Given the description of an element on the screen output the (x, y) to click on. 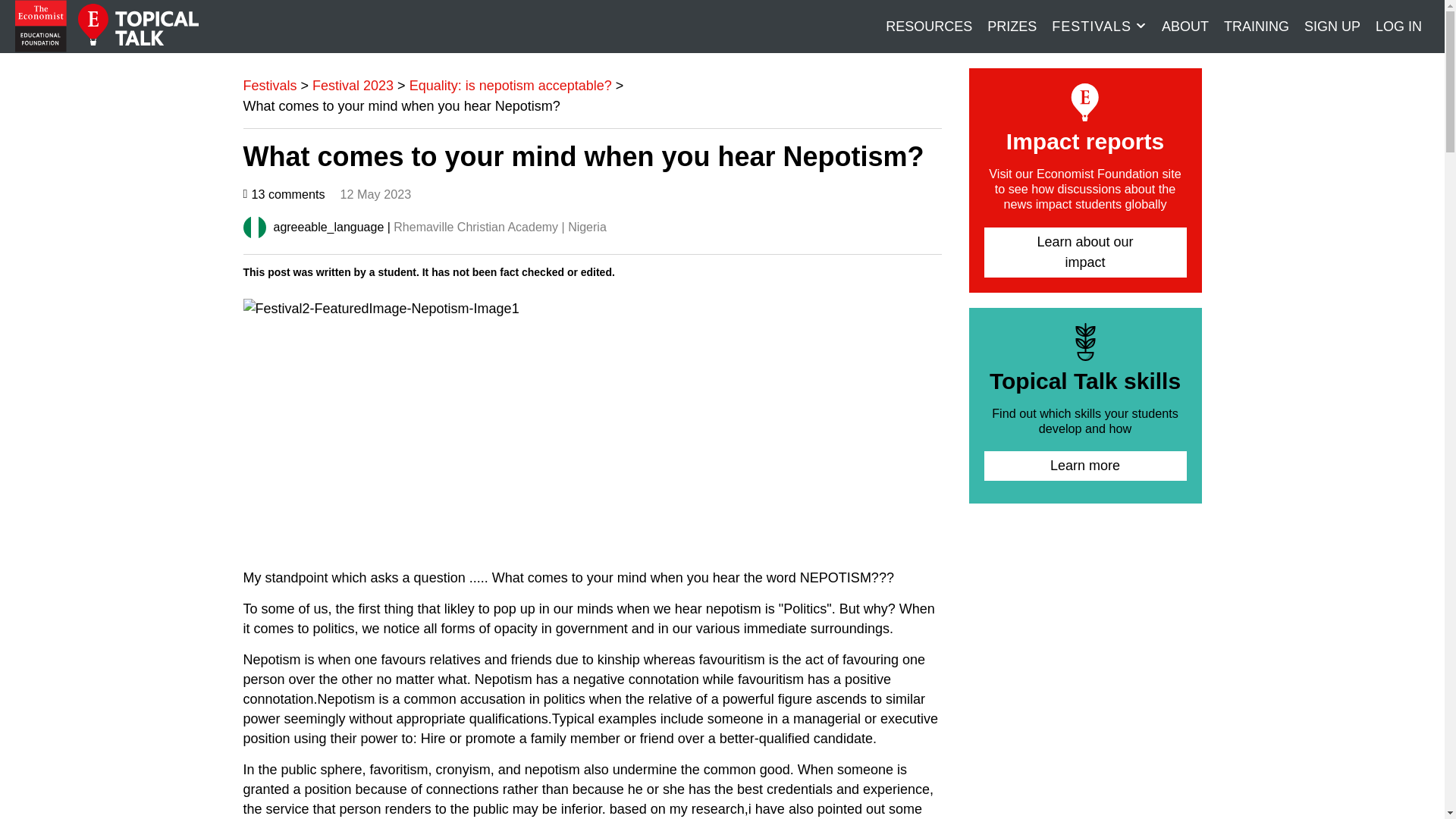
LOG IN (1398, 26)
SIGN UP (1331, 26)
13 comments (287, 193)
Festival 2023 (353, 85)
TRAINING (1256, 26)
PRIZES (1011, 26)
RESOURCES (928, 26)
ABOUT (1184, 26)
Equality: is nepotism acceptable? (510, 85)
Festivals (270, 85)
